Given the description of an element on the screen output the (x, y) to click on. 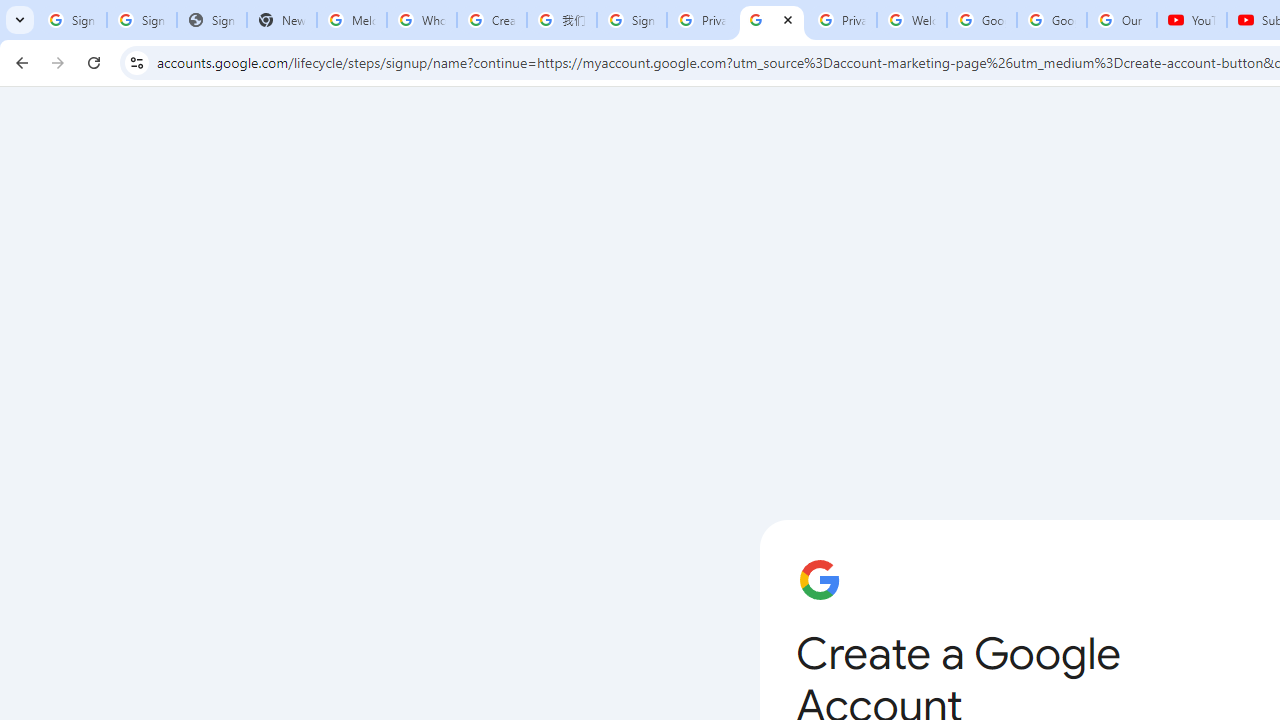
Create your Google Account (492, 20)
Sign in - Google Accounts (631, 20)
Sign in - Google Accounts (141, 20)
Welcome to My Activity (911, 20)
YouTube (1192, 20)
Sign In - USA TODAY (211, 20)
